Given the description of an element on the screen output the (x, y) to click on. 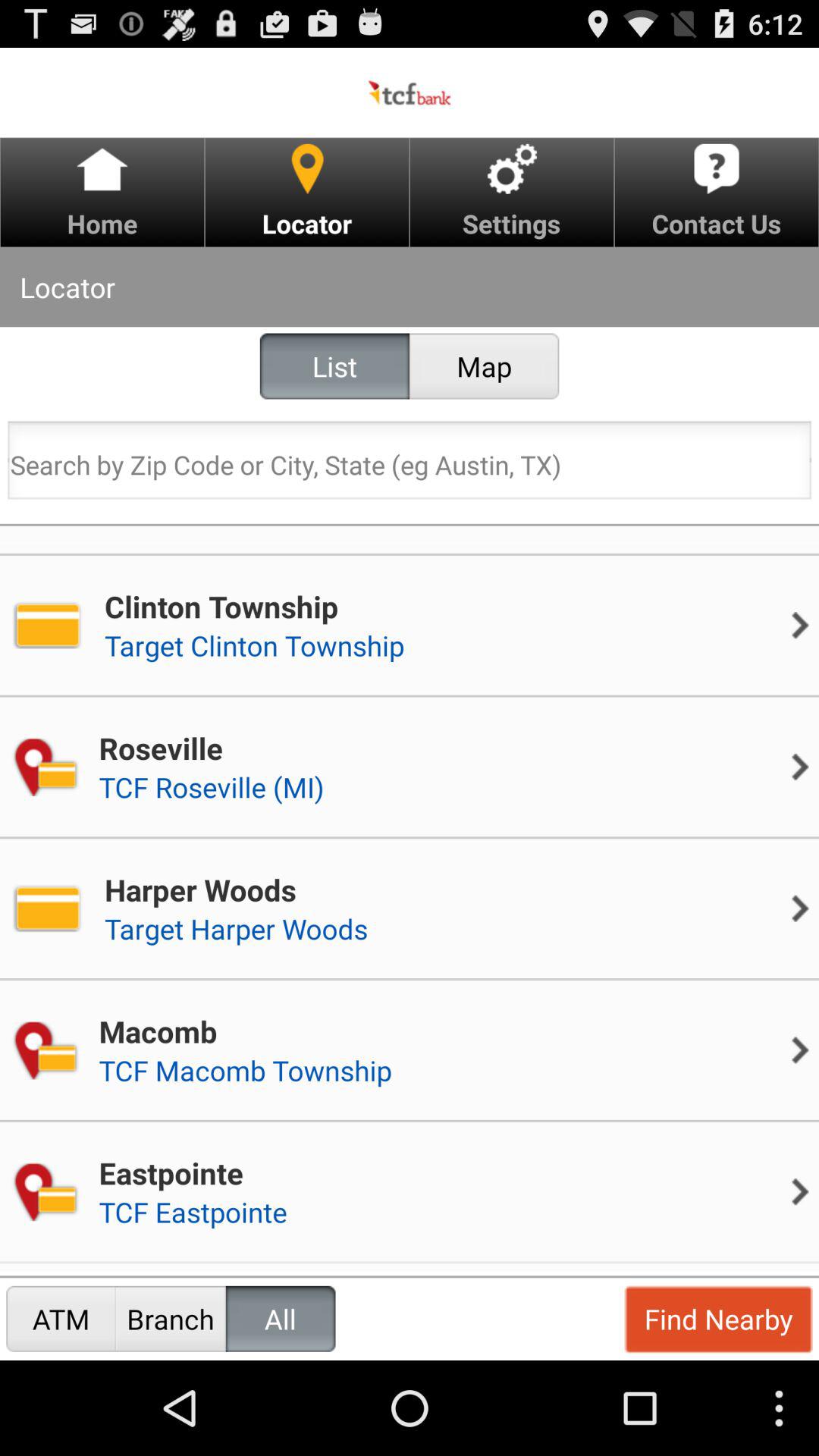
launch the icon to the left of the find nearby icon (280, 1318)
